Given the description of an element on the screen output the (x, y) to click on. 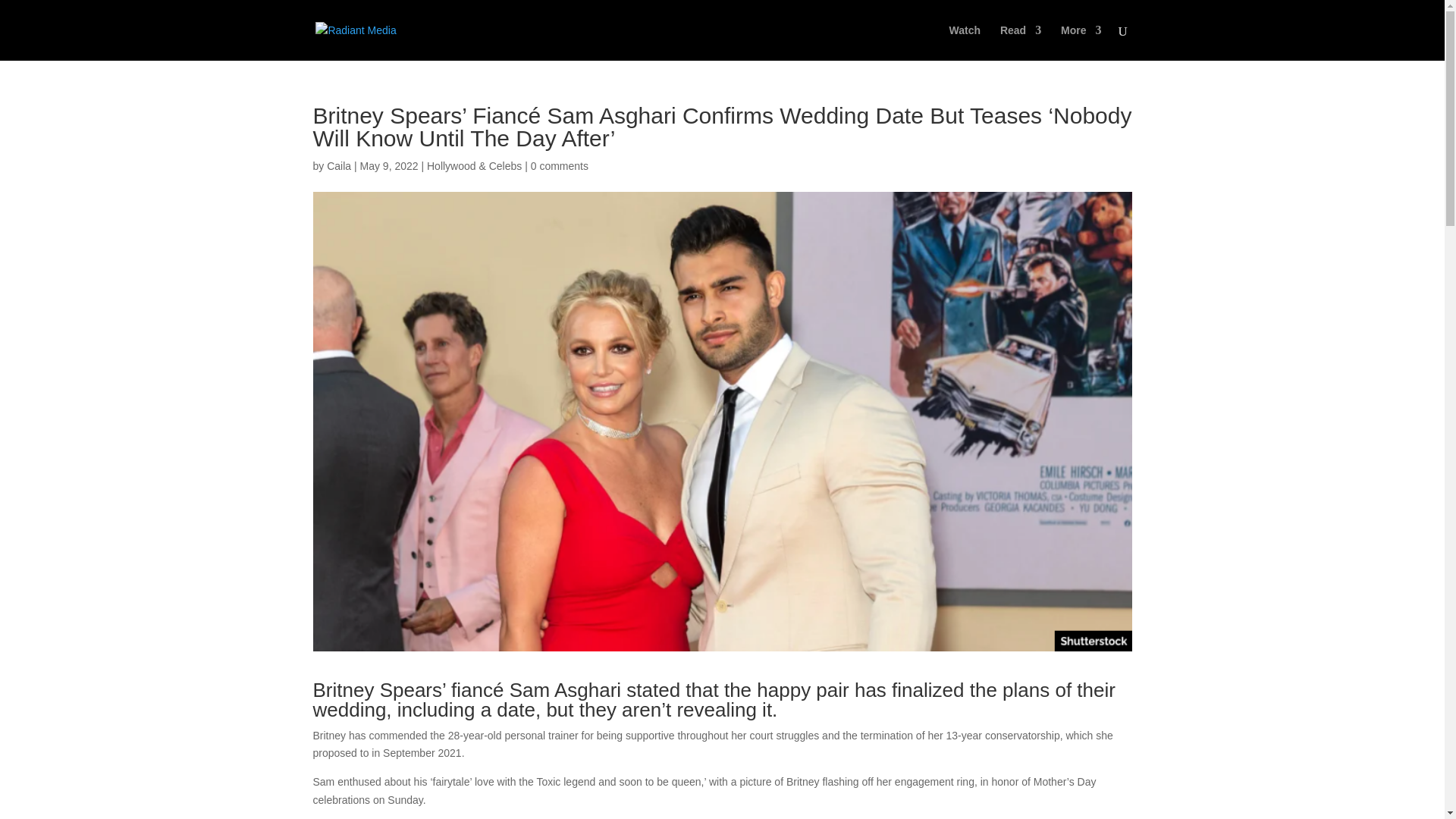
Read (1020, 42)
More (1080, 42)
Posts by Caila (338, 165)
0 comments (559, 165)
Caila (338, 165)
